Given the description of an element on the screen output the (x, y) to click on. 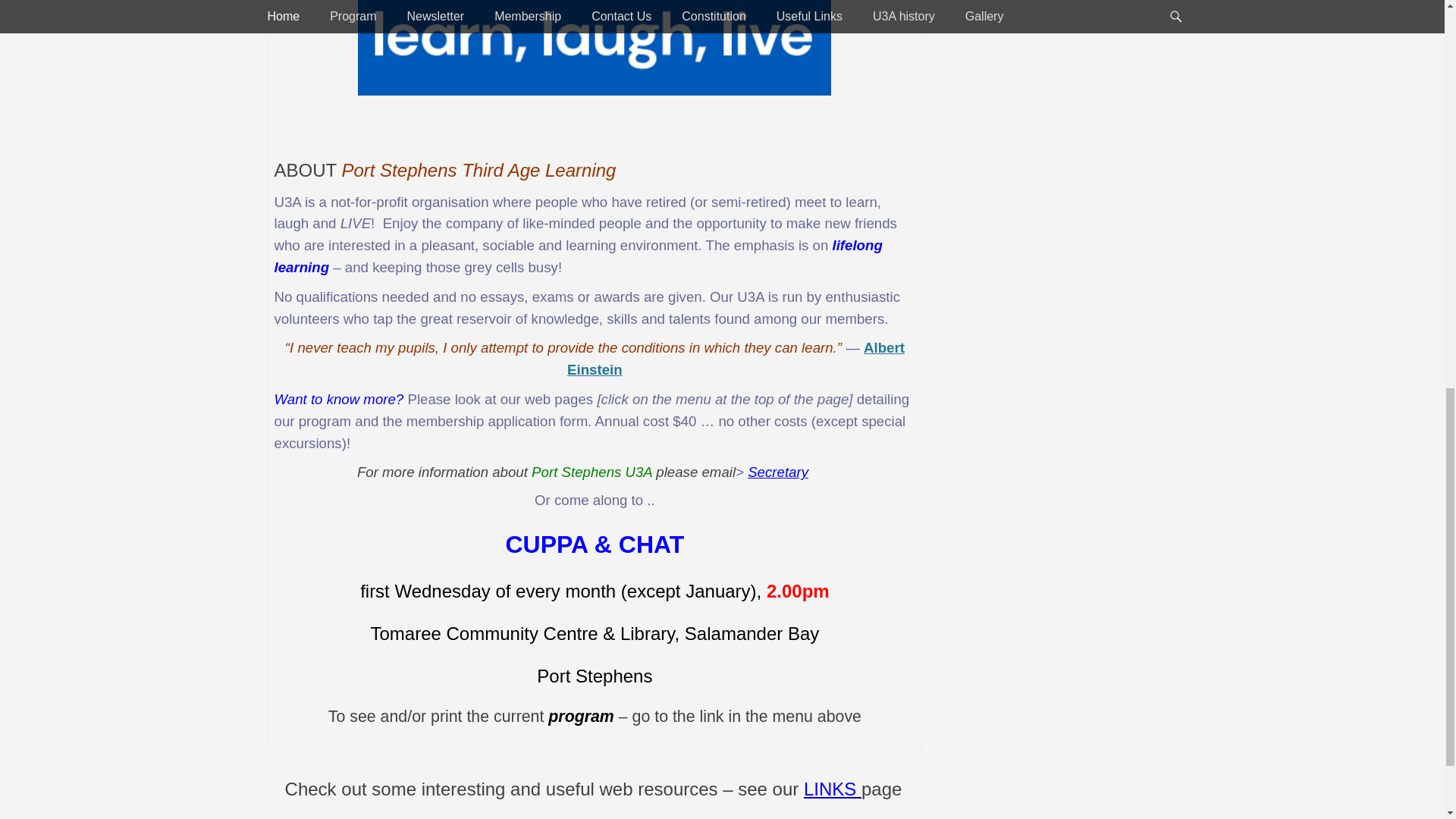
Secretary (778, 471)
Albert Einstein (735, 358)
LINKS (832, 788)
